Given the description of an element on the screen output the (x, y) to click on. 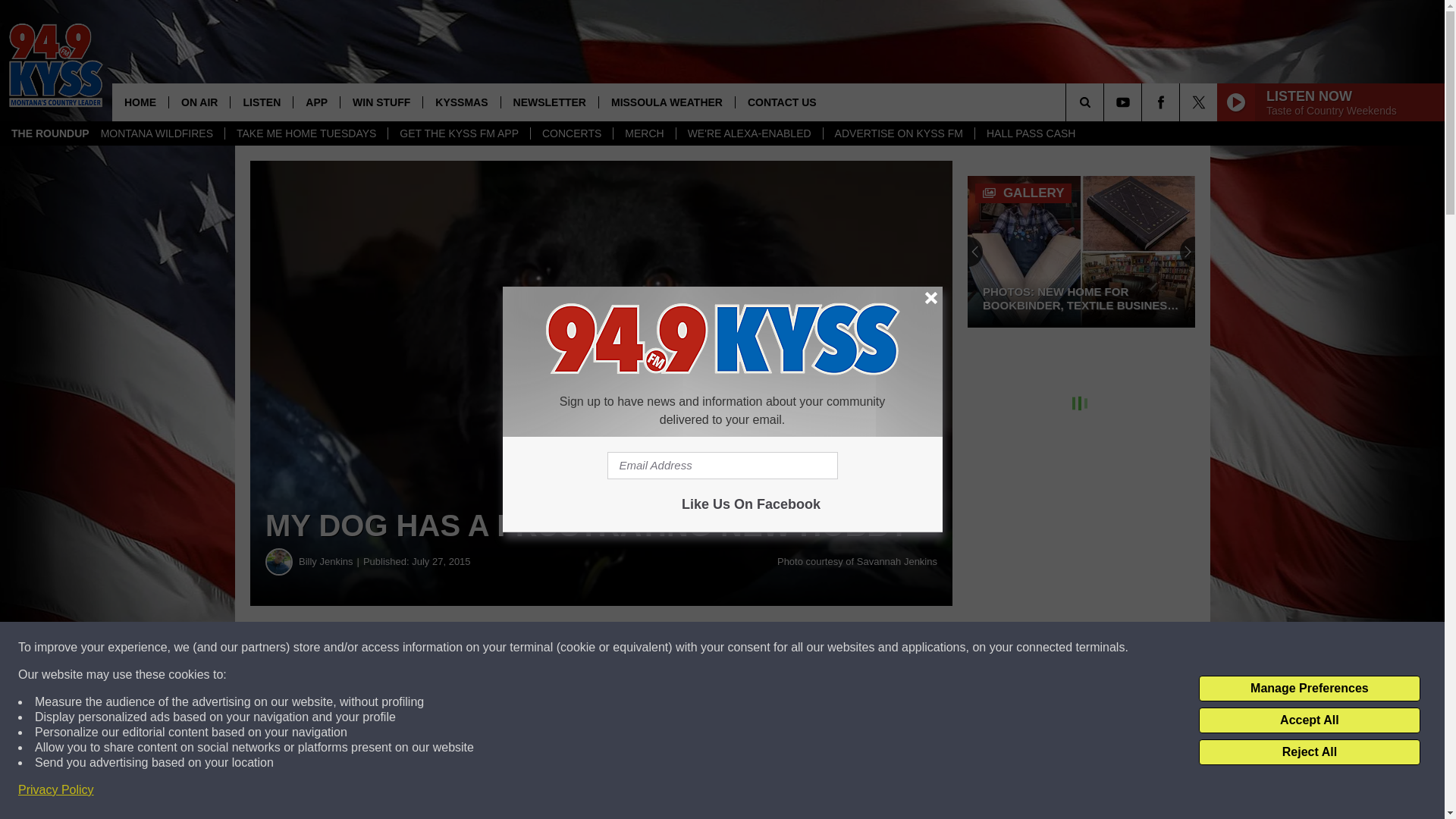
Email Address (722, 465)
GET THE KYSS FM APP (458, 133)
ON AIR (199, 102)
TAKE ME HOME TUESDAYS (305, 133)
HOME (140, 102)
SEARCH (1106, 102)
Share on Twitter (741, 647)
Share on Facebook (460, 647)
Privacy Policy (55, 789)
SEARCH (1106, 102)
HALL PASS CASH (1030, 133)
ADVERTISE ON KYSS FM (898, 133)
MERCH (643, 133)
Accept All (1309, 720)
MONTANA WILDFIRES (156, 133)
